Given the description of an element on the screen output the (x, y) to click on. 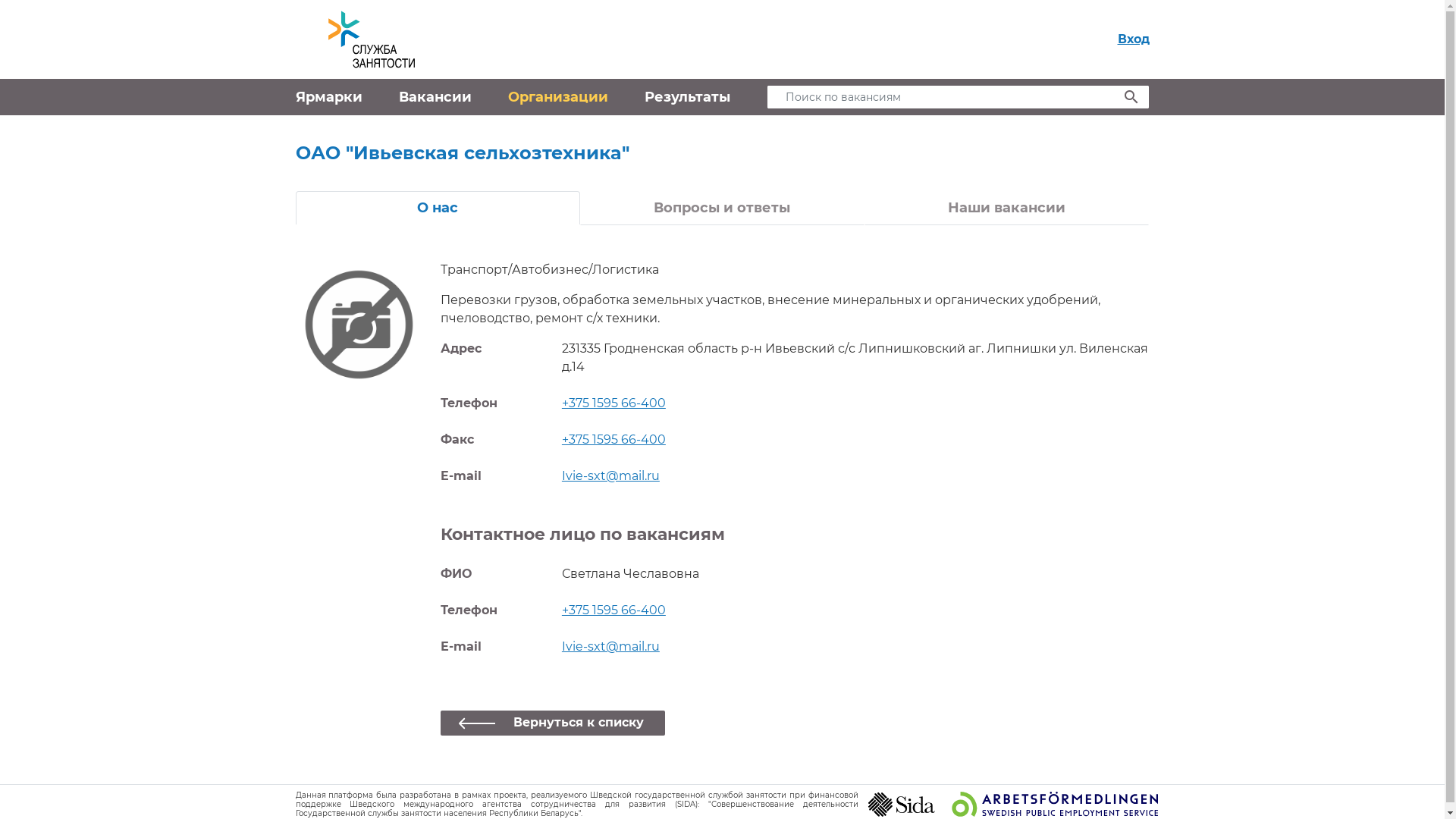
+375 1595 66-400 Element type: text (613, 402)
+375 1595 66-400 Element type: text (613, 609)
Ivie-sxt@mail.ru Element type: text (610, 646)
+375 1595 66-400 Element type: text (613, 439)
Ivie-sxt@mail.ru Element type: text (610, 475)
